Given the description of an element on the screen output the (x, y) to click on. 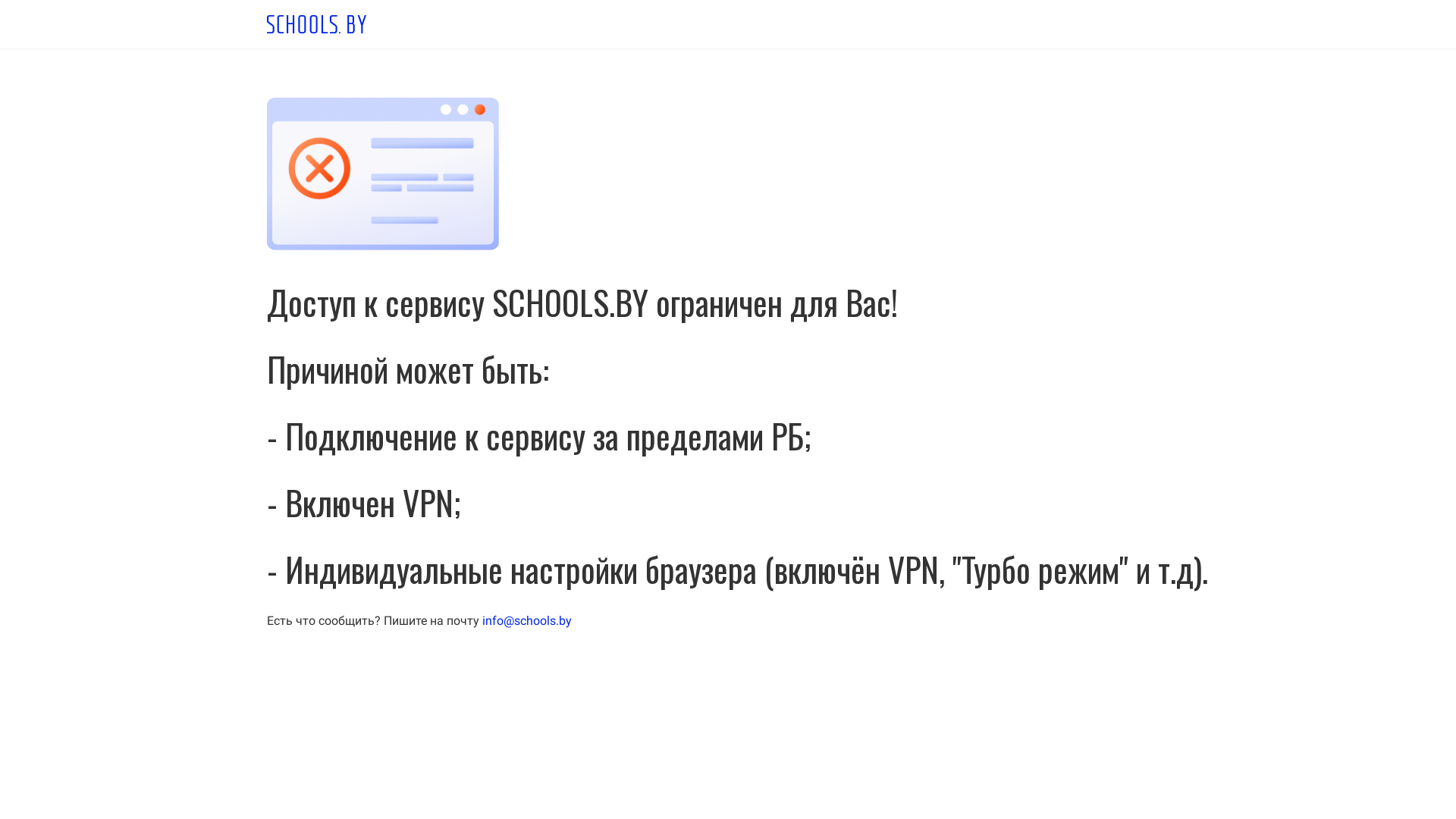
info@schools.by Element type: text (526, 620)
